Given the description of an element on the screen output the (x, y) to click on. 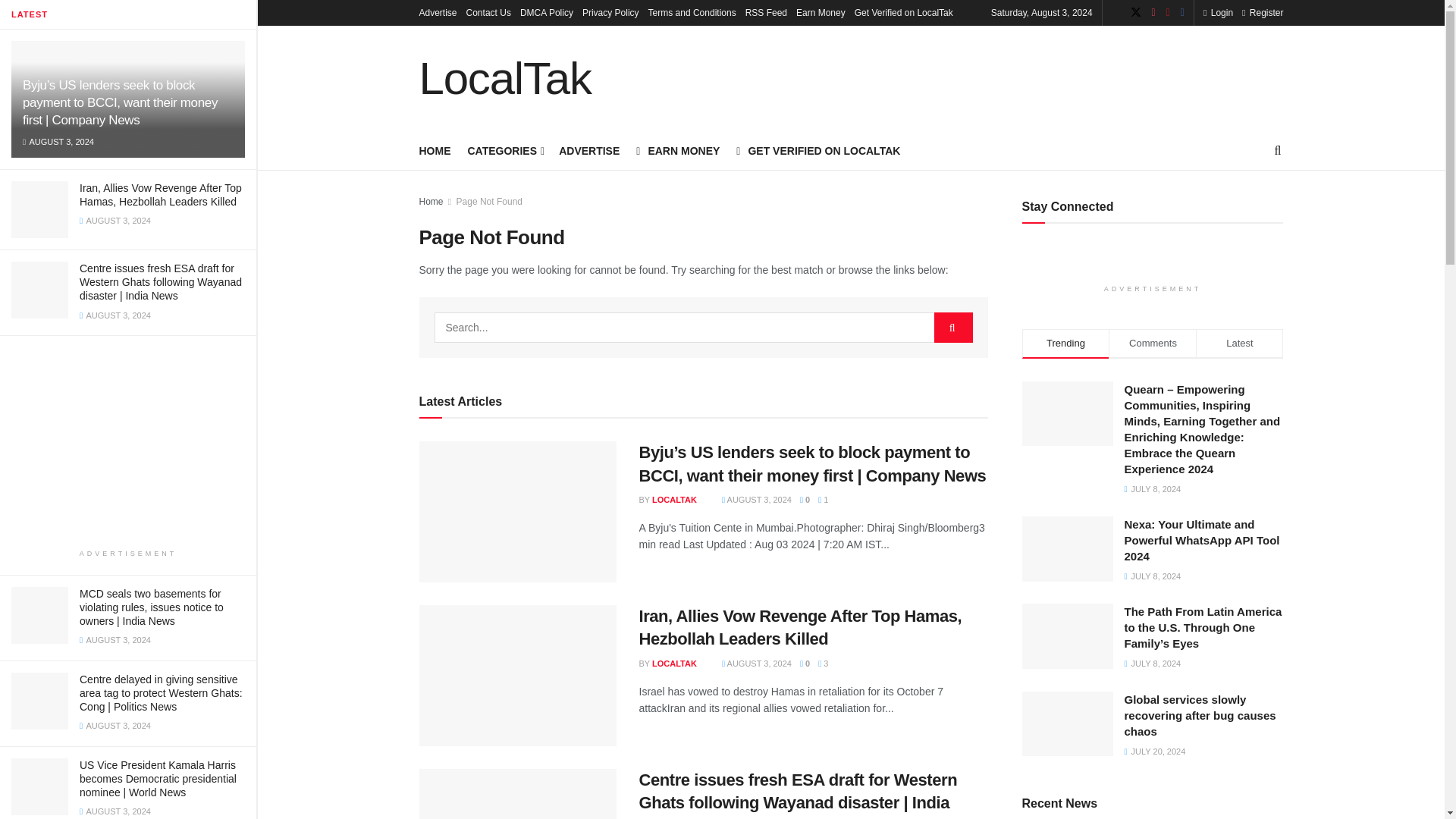
Advertise (438, 12)
Register (1261, 12)
RSS Feed (766, 12)
Contact Us (488, 12)
Terms and Conditions (691, 12)
LocalTak (505, 78)
Privacy Policy (610, 12)
Earn Money (820, 12)
Login (1218, 12)
Get Verified on LocalTak (903, 12)
DMCA Policy (546, 12)
